Given the description of an element on the screen output the (x, y) to click on. 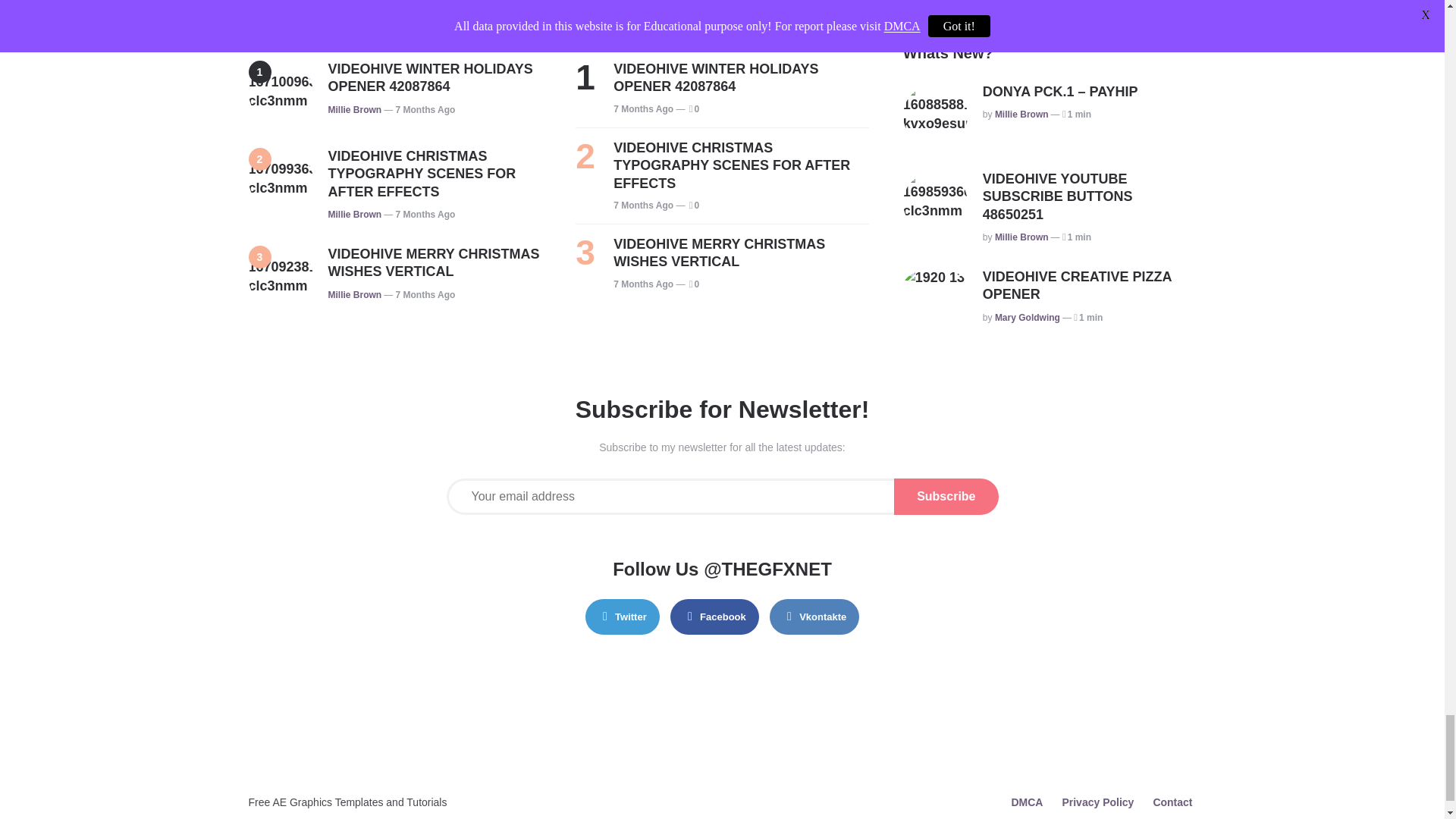
Subscribe (945, 496)
